Given the description of an element on the screen output the (x, y) to click on. 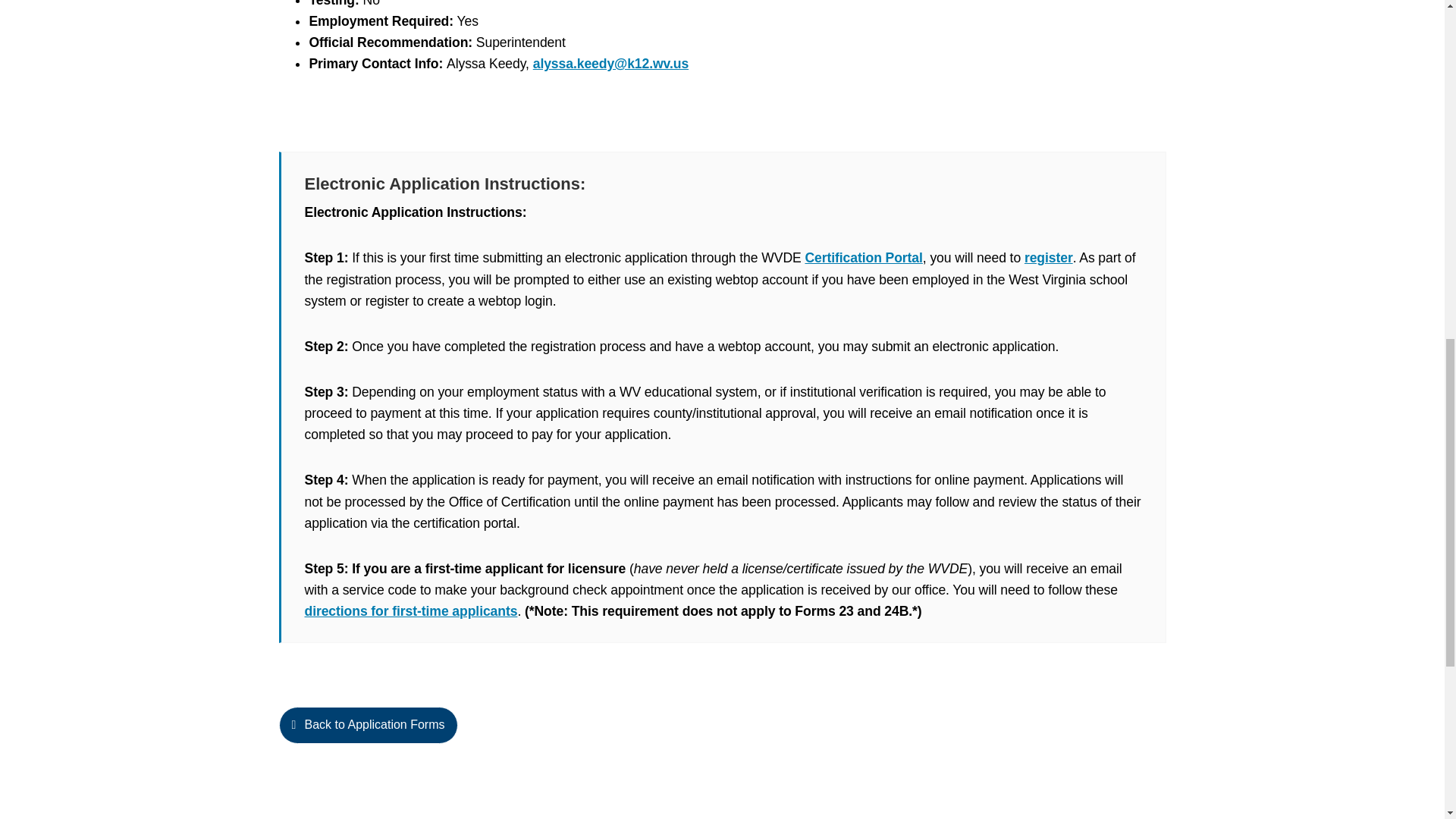
Back to Application Forms (722, 734)
